Given the description of an element on the screen output the (x, y) to click on. 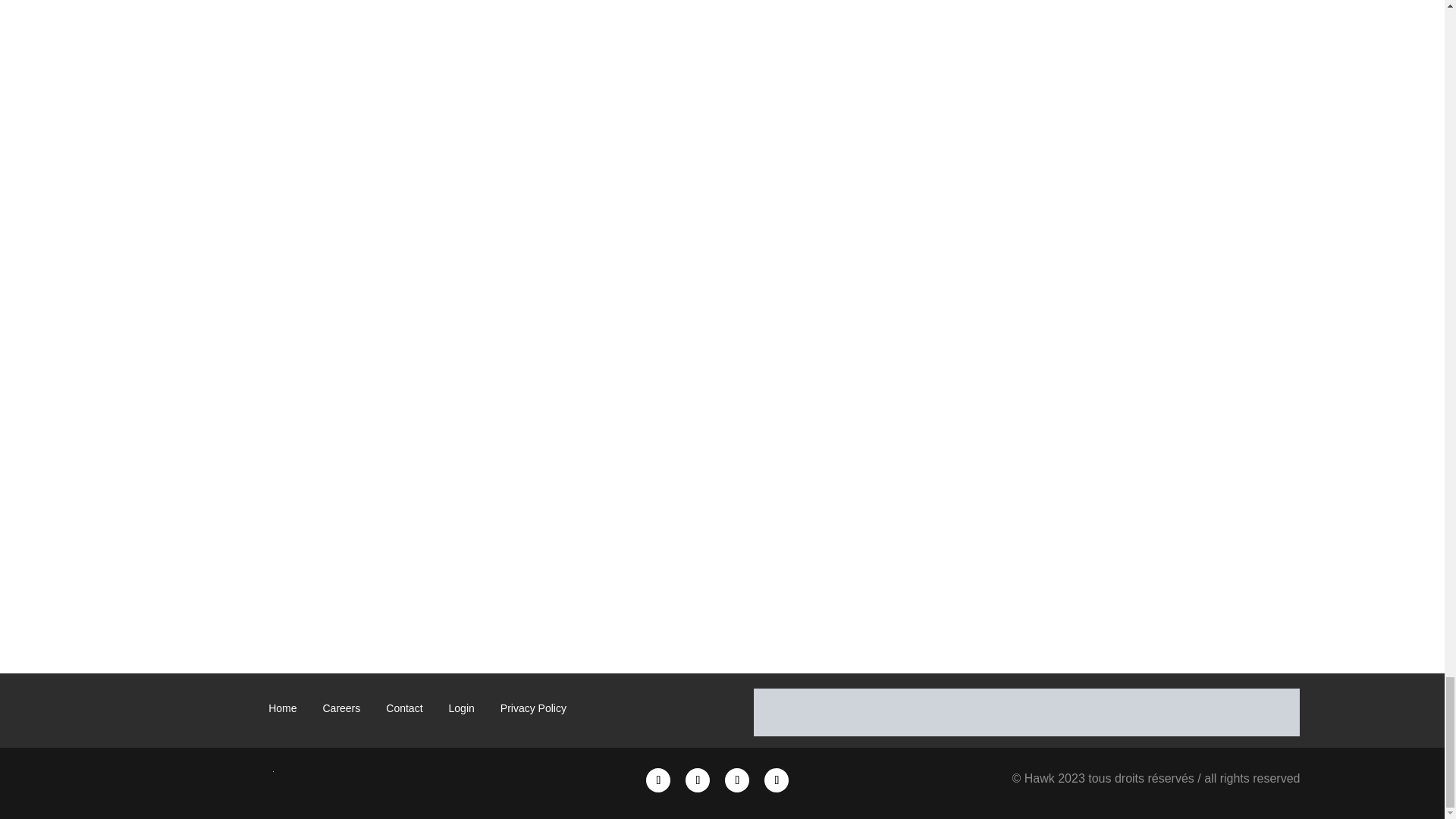
Follow on Facebook (776, 780)
Privacy Policy (533, 711)
Follow on X (697, 780)
Home (282, 711)
Follow on Youtube (737, 780)
Careers (341, 711)
Follow on LinkedIn (657, 780)
associations (1027, 712)
Login (461, 711)
Contact (403, 711)
